Given the description of an element on the screen output the (x, y) to click on. 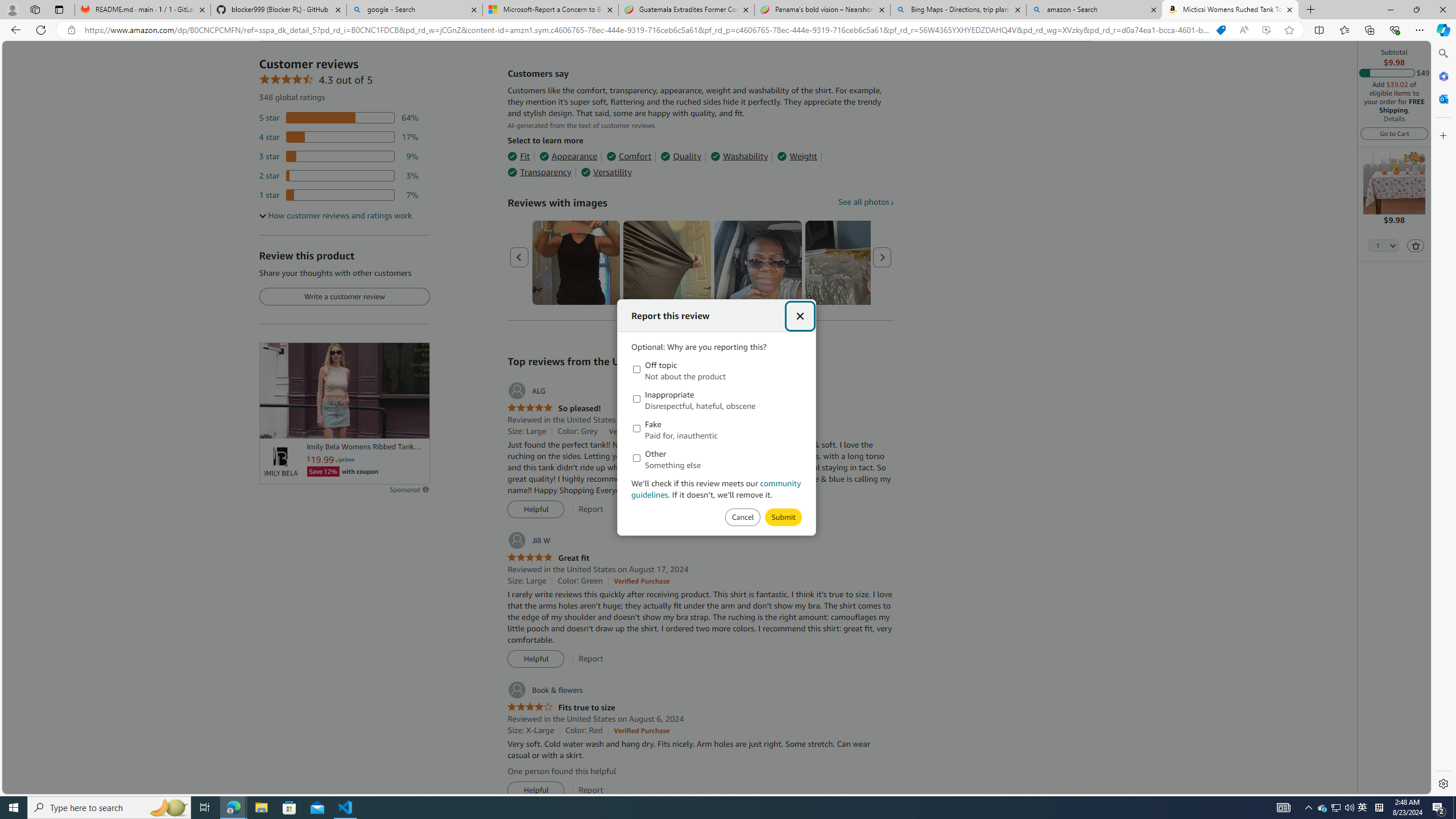
7 percent of reviews have 1 stars (339, 195)
3 percent of reviews have 2 stars (339, 175)
Appearance (568, 156)
Report (590, 790)
64 percent of reviews have 5 stars (339, 117)
Weight (796, 156)
Quality (681, 156)
